Given the description of an element on the screen output the (x, y) to click on. 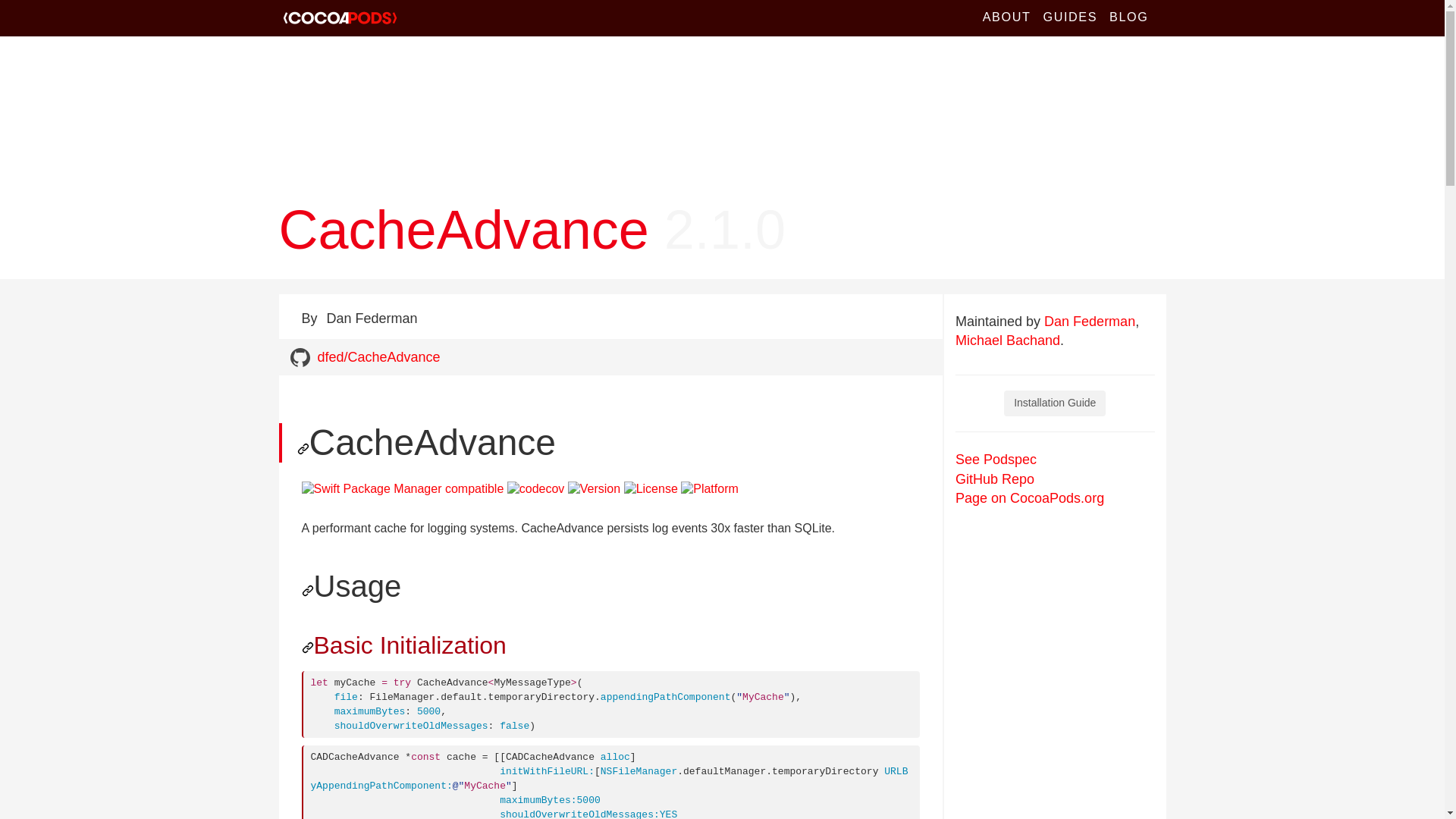
BLOG (1128, 18)
GitHub Repo (994, 478)
ABOUT (1006, 18)
Installation Guide (1054, 403)
Dan Federman (1089, 321)
Page on CocoaPods.org (1029, 498)
See Podspec (995, 459)
Michael Bachand (1007, 340)
GUIDES (1069, 18)
